Given the description of an element on the screen output the (x, y) to click on. 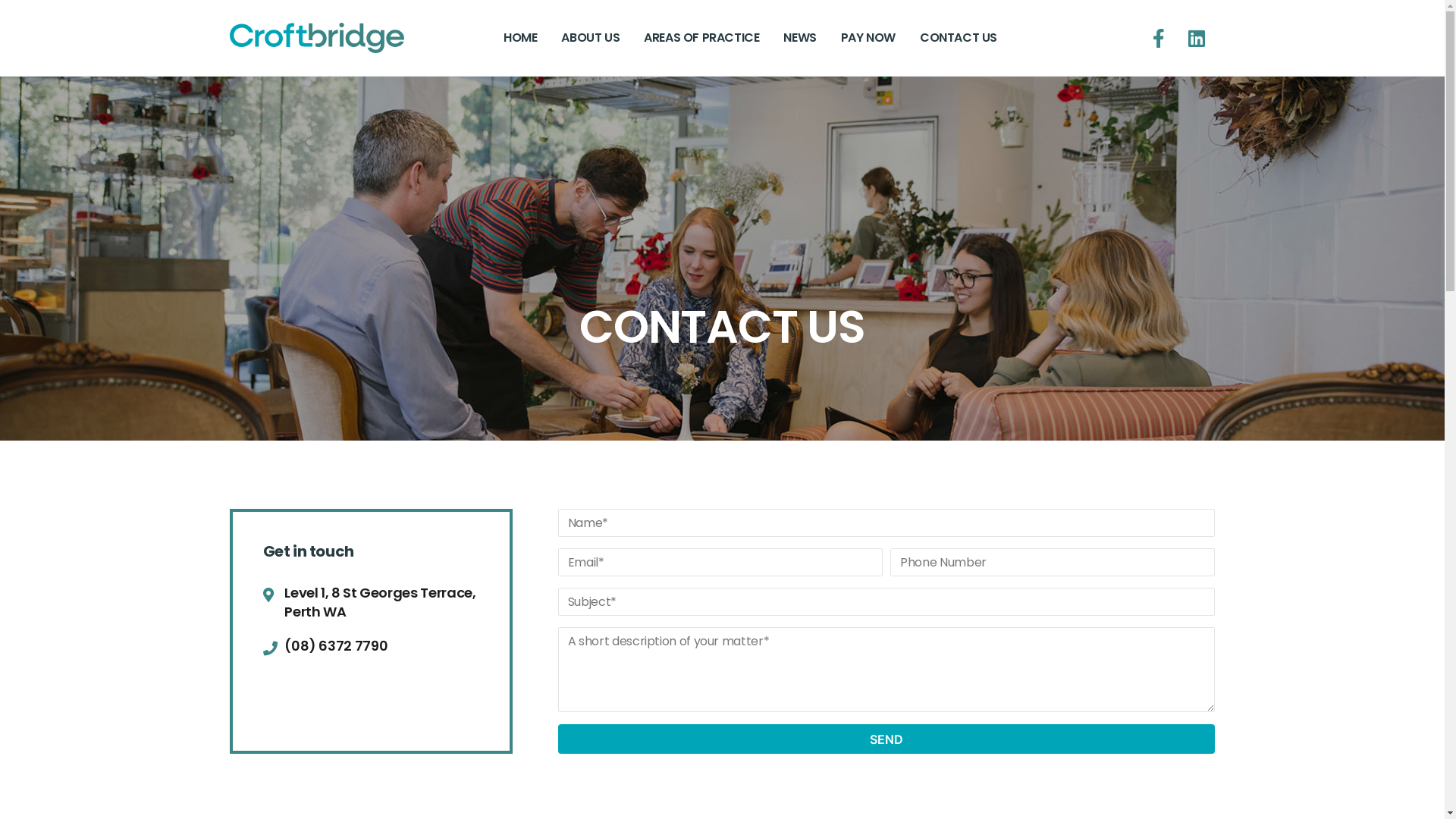
PAY NOW Element type: text (867, 37)
SEND Element type: text (886, 738)
CONTACT US Element type: text (958, 37)
NEWS Element type: text (799, 37)
Level 1, 8 St Georges Terrace, Perth WA Element type: text (370, 602)
AREAS OF PRACTICE Element type: text (701, 37)
ABOUT US Element type: text (589, 37)
HOME Element type: text (520, 37)
(08) 6372 7790 Element type: text (370, 645)
